Given the description of an element on the screen output the (x, y) to click on. 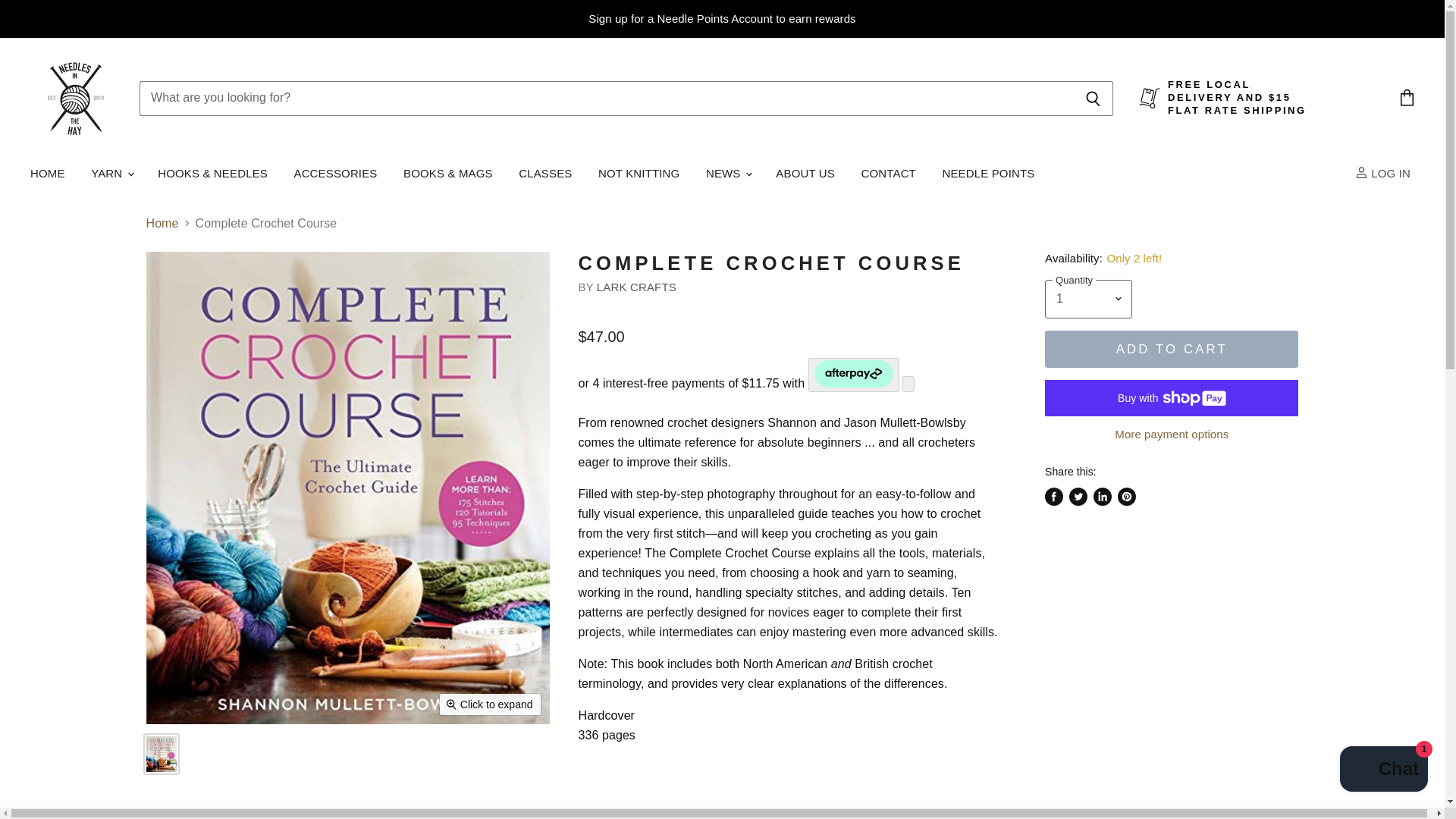
ACCOUNT ICON (1361, 172)
Shopify online store chat (1383, 770)
Delivery icon (1149, 97)
YARN (111, 173)
HOME (47, 173)
Lark Crafts (636, 286)
